Given the description of an element on the screen output the (x, y) to click on. 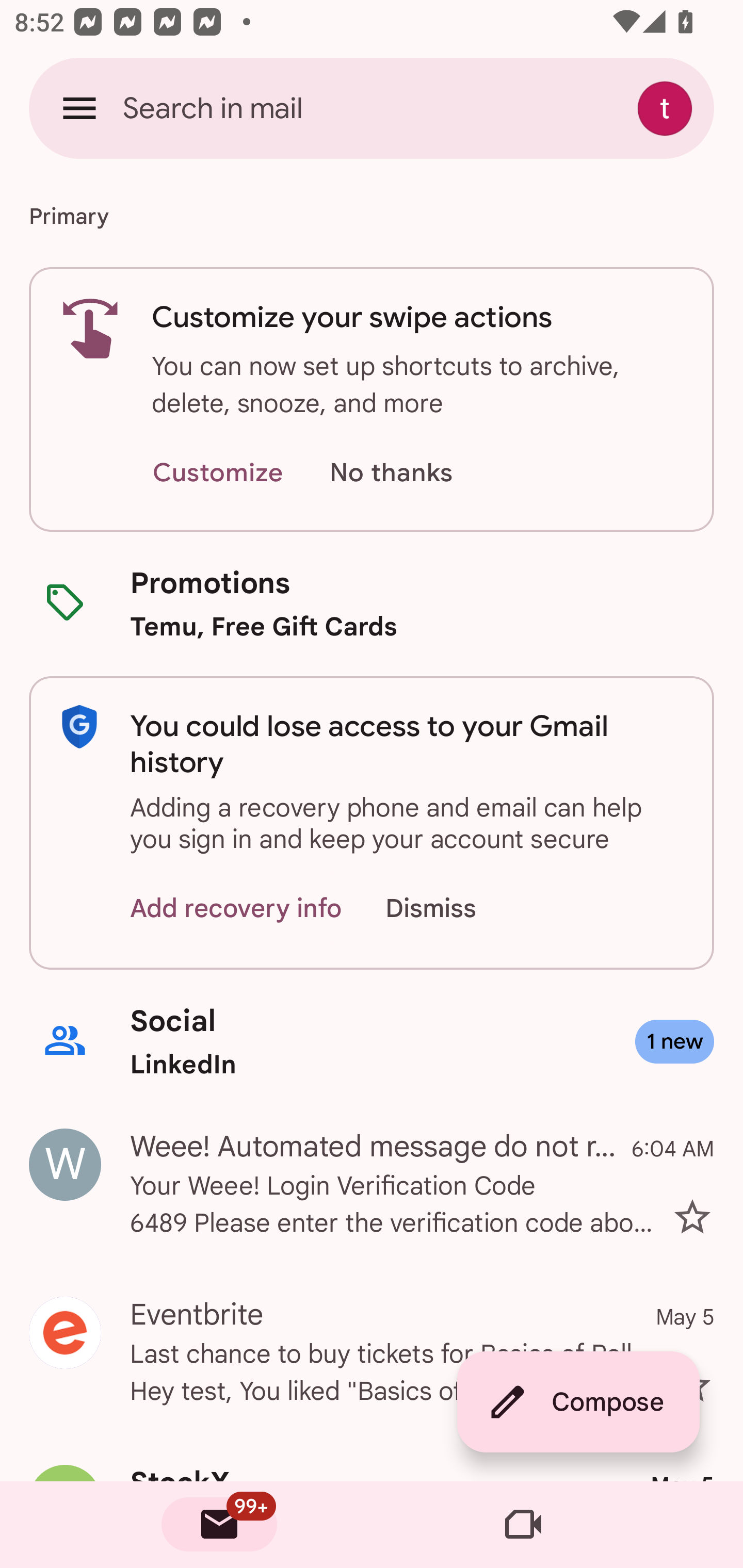
Open navigation drawer (79, 108)
Customize (217, 473)
No thanks (390, 473)
Promotions Temu, Free Gift Cards (371, 603)
Add recovery info (235, 908)
Dismiss (449, 908)
Social LinkedIn 1 new (371, 1041)
Compose (577, 1401)
Meet (523, 1524)
